Given the description of an element on the screen output the (x, y) to click on. 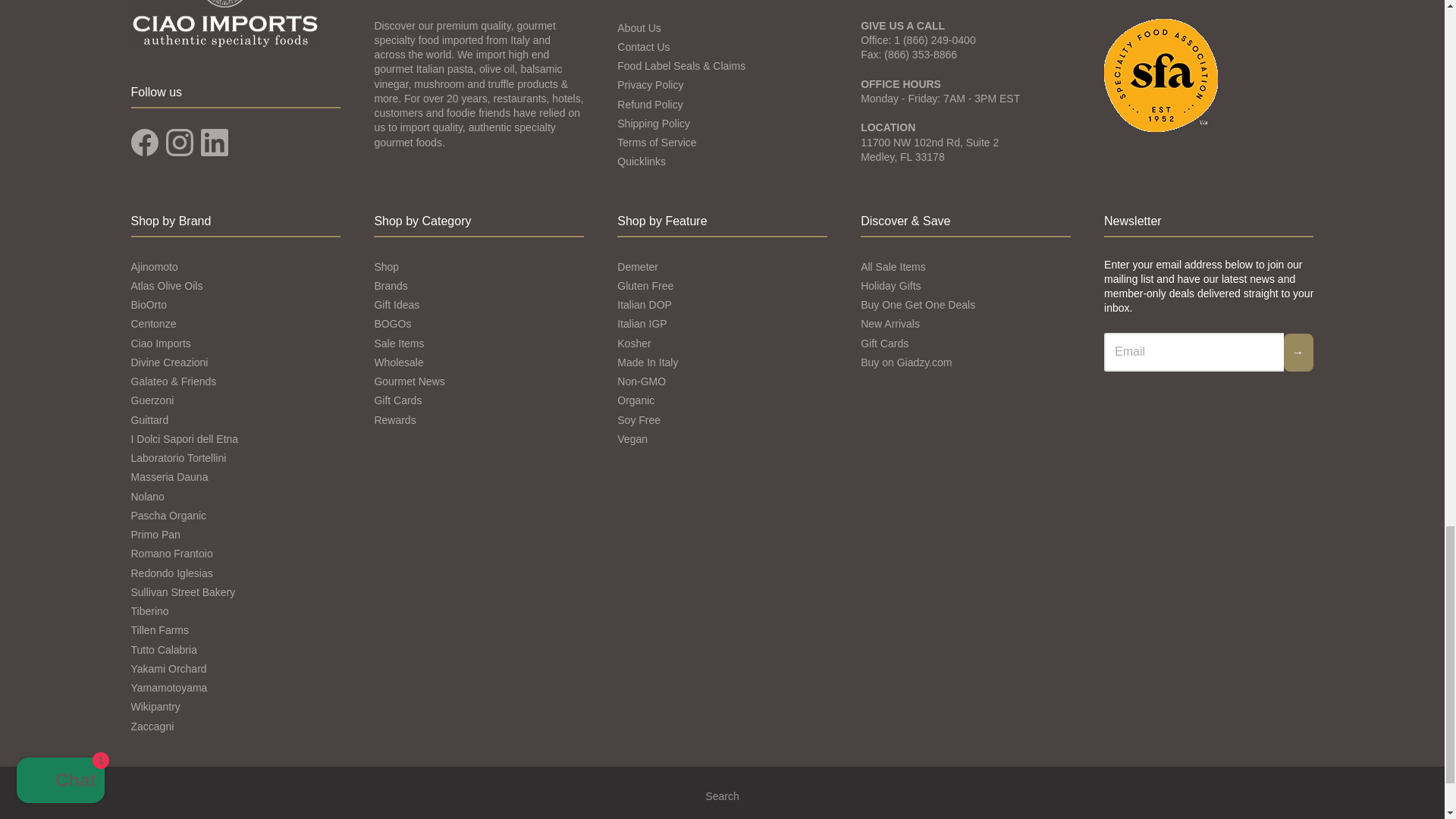
Facebook (144, 142)
LinkedIn (213, 142)
Instagram (178, 142)
